Given the description of an element on the screen output the (x, y) to click on. 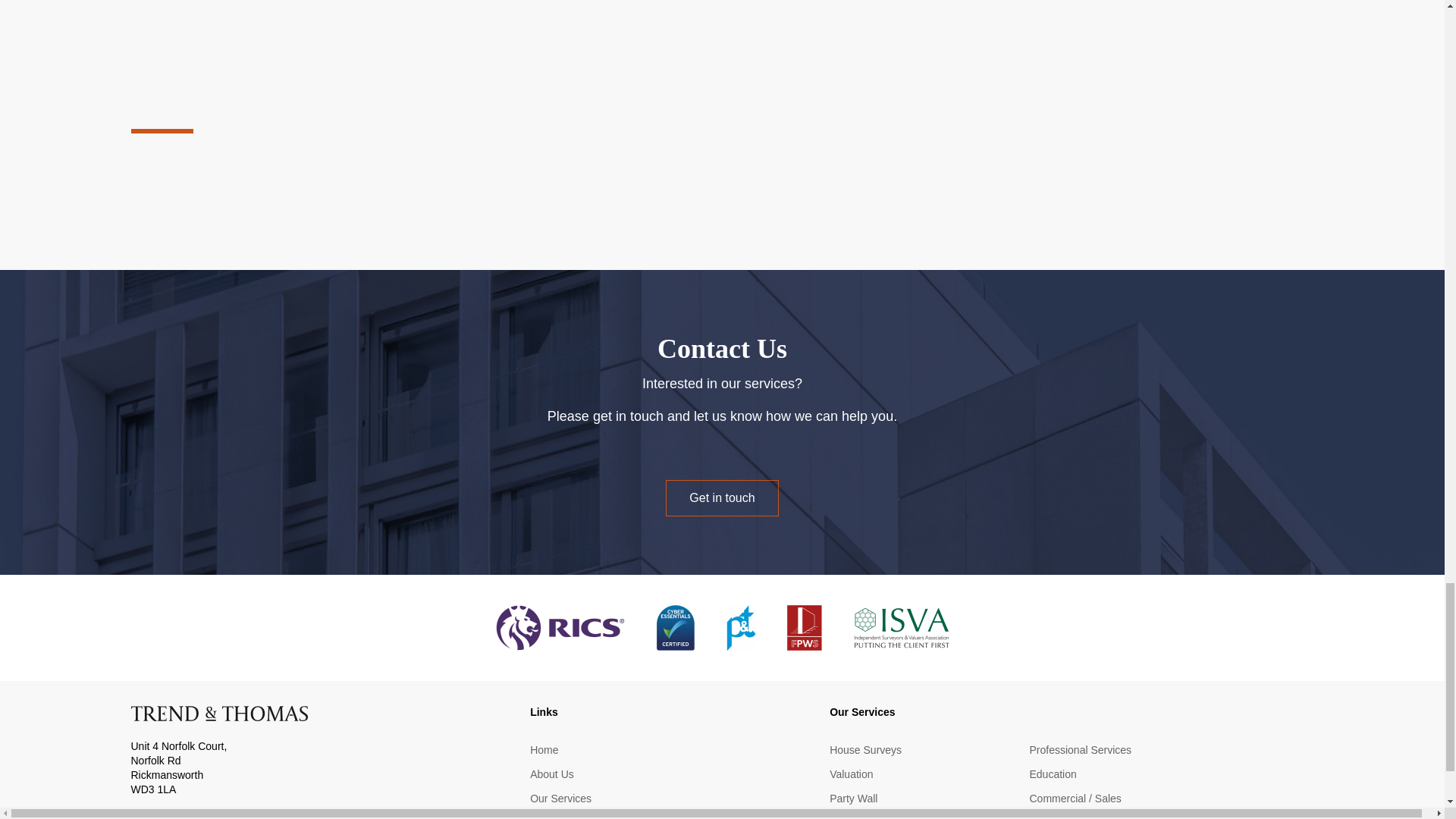
About Us (551, 774)
House Surveys (865, 749)
Professional Services (1080, 749)
Valuation (850, 774)
Contact Us (555, 817)
Home (543, 749)
Our Services (560, 798)
Get in touch (721, 497)
Party Wall (853, 798)
